Given the description of an element on the screen output the (x, y) to click on. 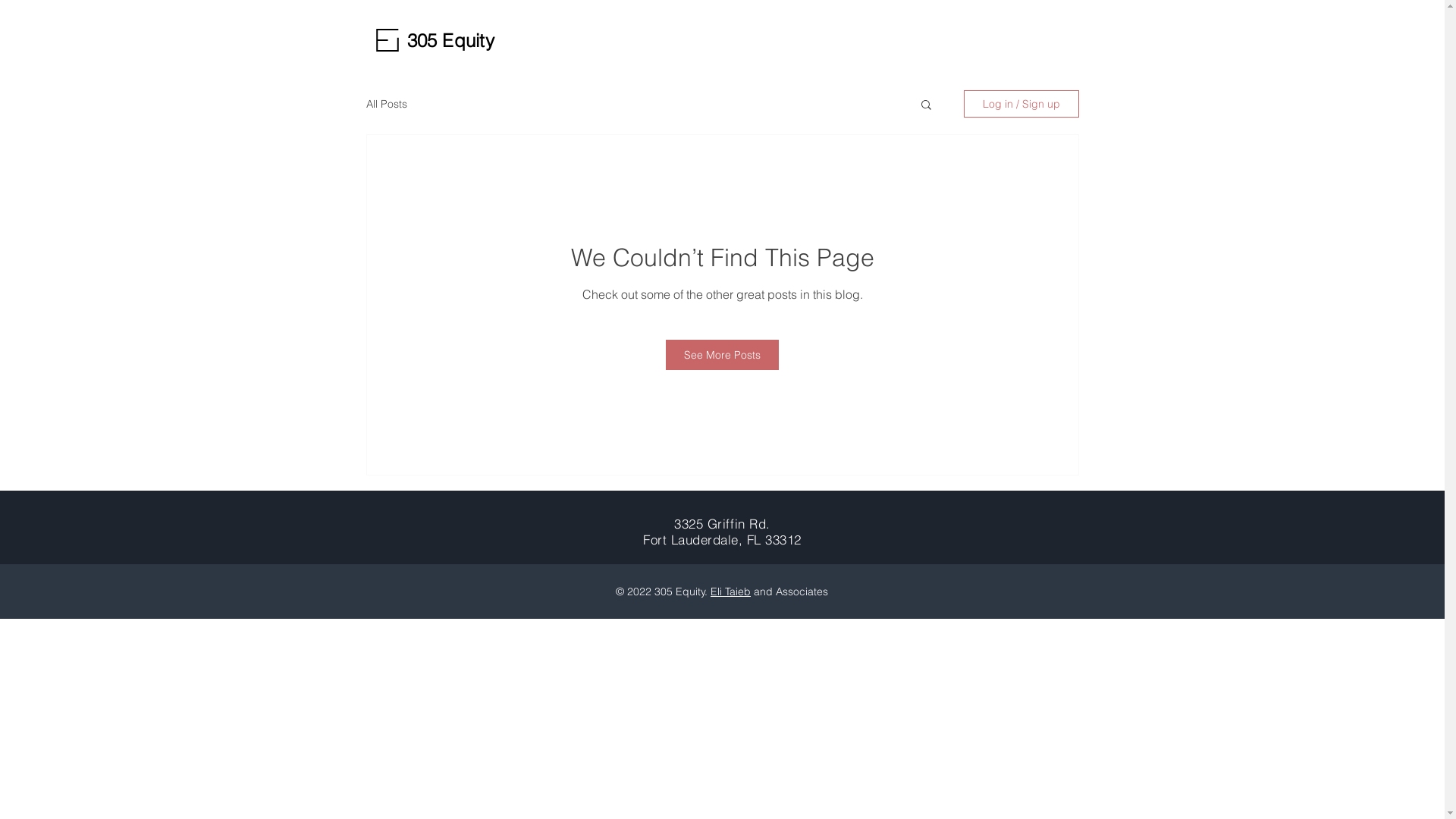
305 Equity Element type: text (449, 40)
Log in / Sign up Element type: text (1020, 103)
See More Posts Element type: text (721, 354)
All Posts Element type: text (385, 103)
Eli Taieb Element type: text (730, 591)
